Given the description of an element on the screen output the (x, y) to click on. 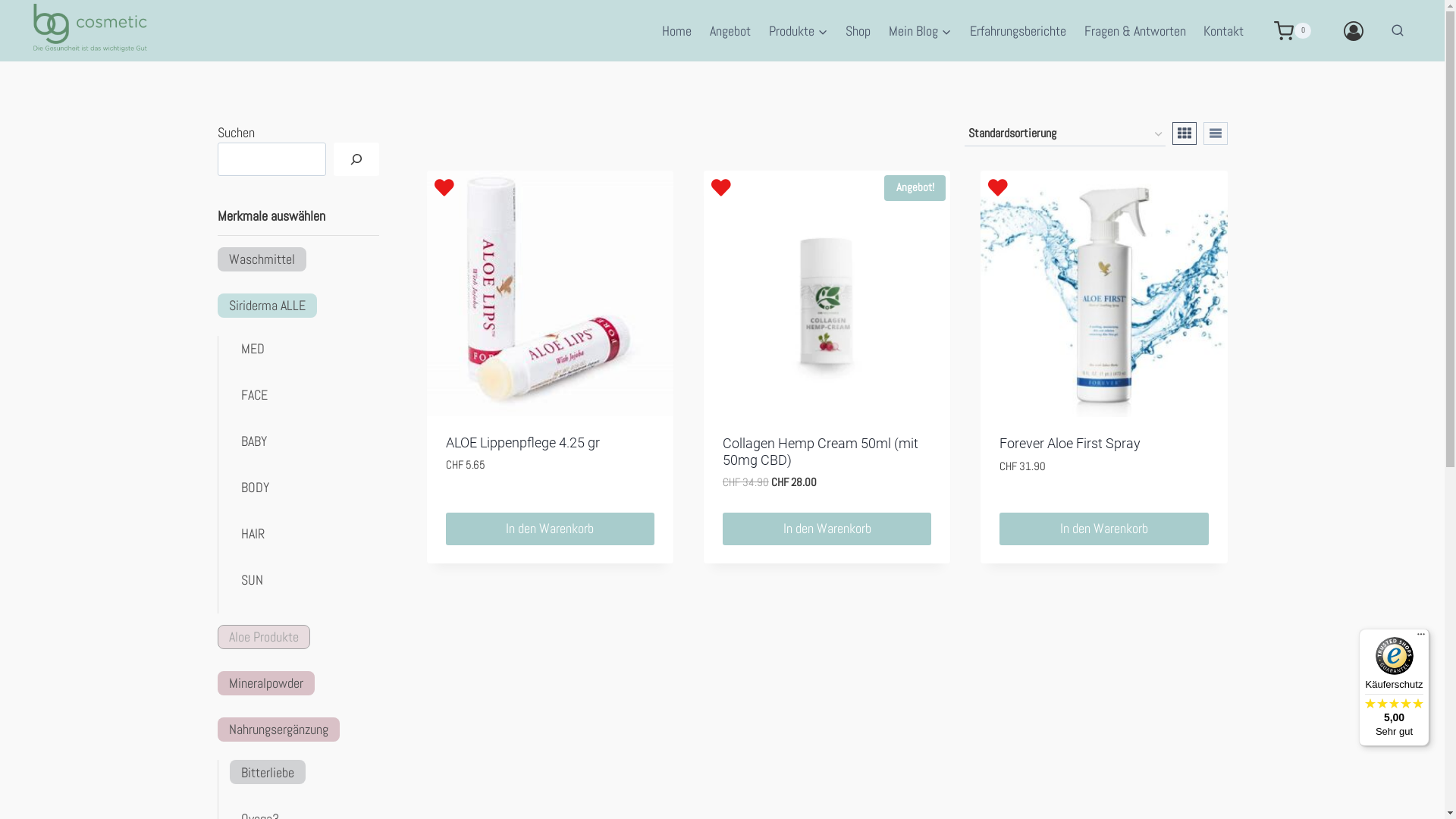
Gitteransicht Element type: hover (1184, 133)
ALOE Lippenpflege 4.25 gr Element type: text (522, 442)
Listenansicht Element type: hover (1214, 133)
Angebot Element type: text (729, 30)
Forever Aloe First Spray Element type: text (1069, 443)
In den Warenkorb Element type: text (826, 528)
0 Element type: text (1291, 30)
Collagen Hemp Cream 50ml (mit 50mg CBD) Element type: text (820, 451)
Shop Element type: text (857, 30)
Kontakt Element type: text (1223, 30)
In den Warenkorb Element type: text (1103, 528)
Produkte Element type: text (798, 30)
Fragen & Antworten Element type: text (1135, 30)
Angebot! Element type: text (826, 293)
Mein Blog Element type: text (919, 30)
In den Warenkorb Element type: text (549, 528)
Erfahrungsberichte Element type: text (1017, 30)
Home Element type: text (676, 30)
